Given the description of an element on the screen output the (x, y) to click on. 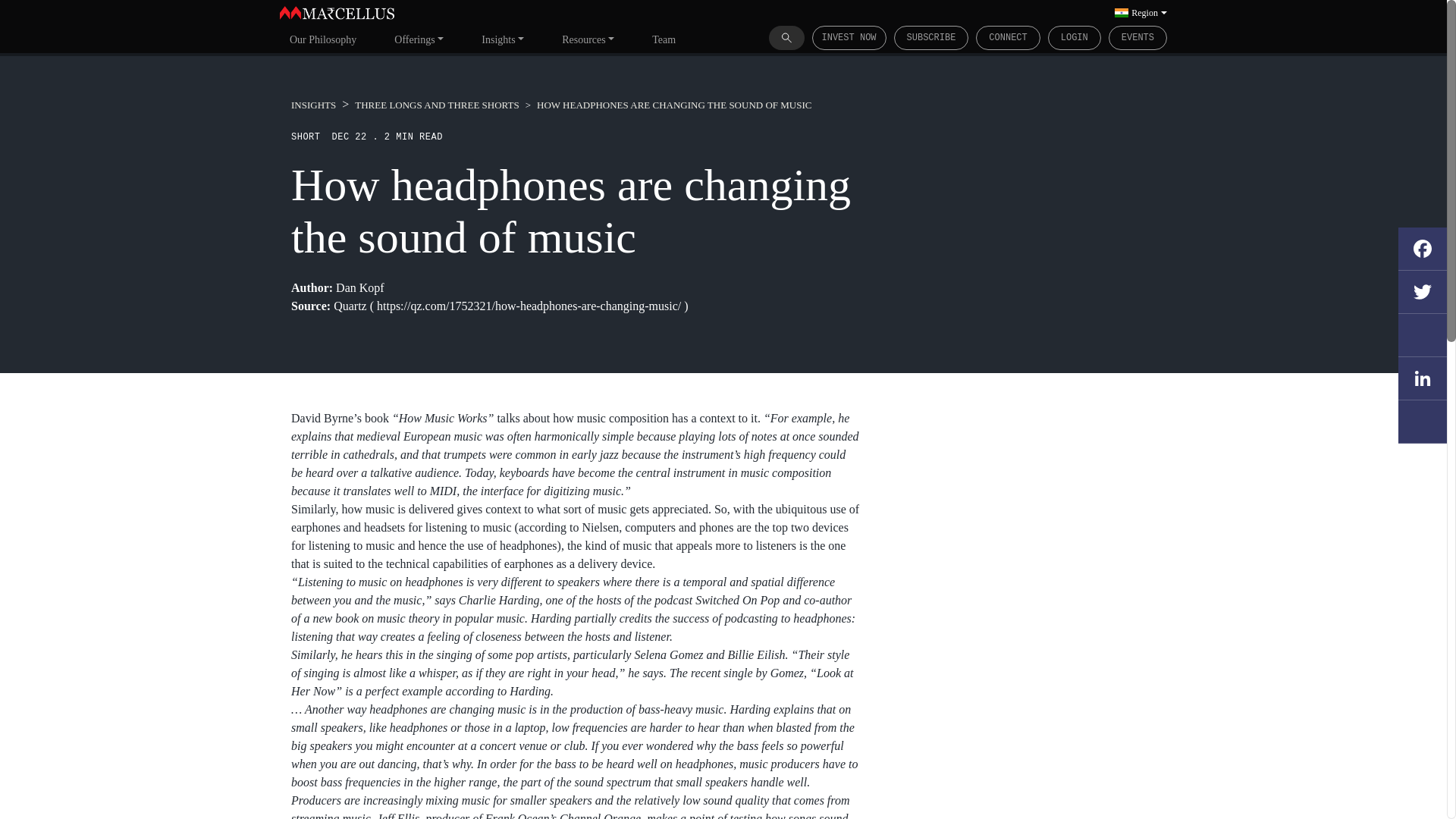
Our Philosophy (322, 38)
Region (1141, 12)
Insights (502, 38)
Offerings (418, 38)
